Given the description of an element on the screen output the (x, y) to click on. 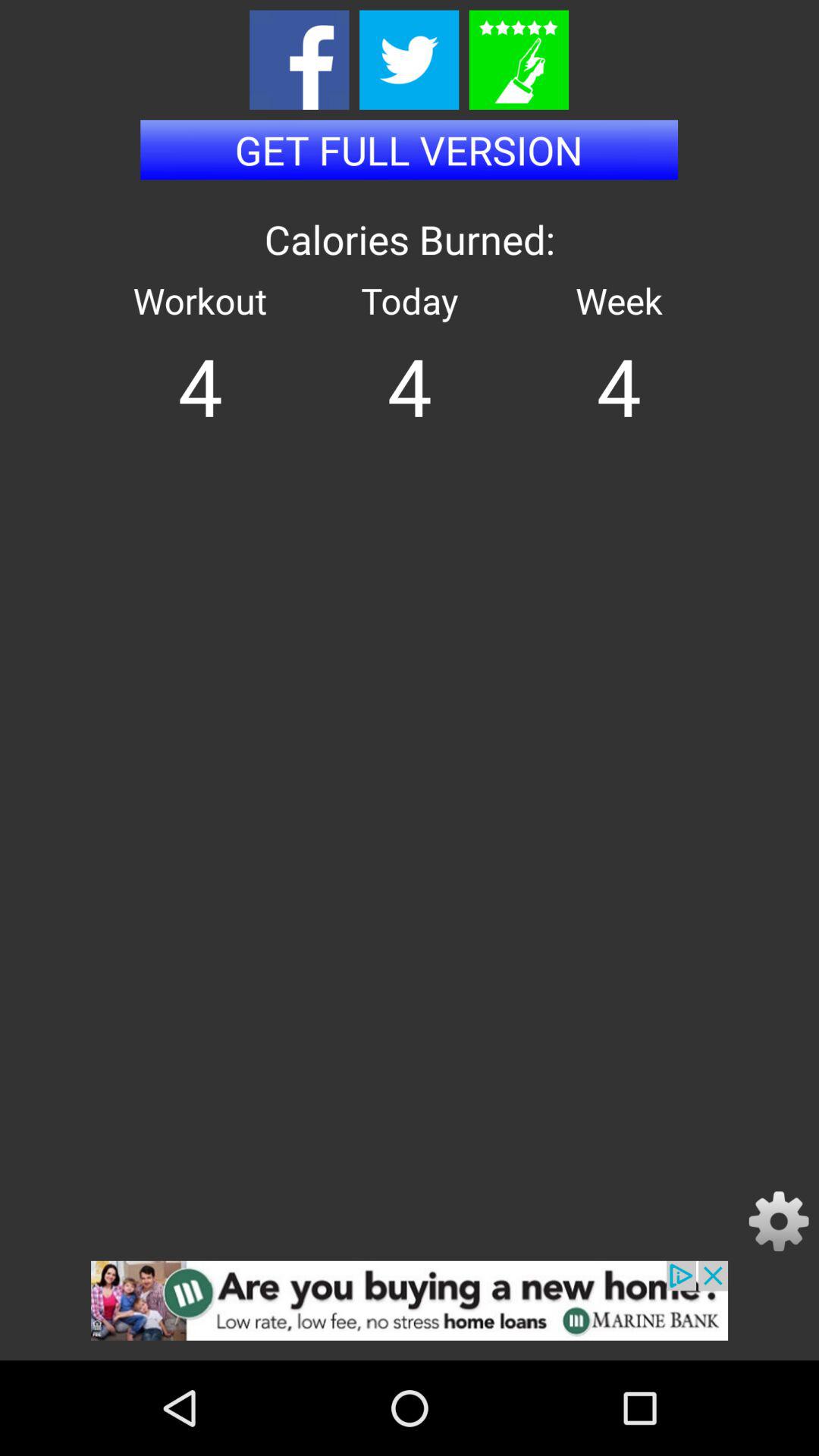
share on facebook (299, 59)
